Given the description of an element on the screen output the (x, y) to click on. 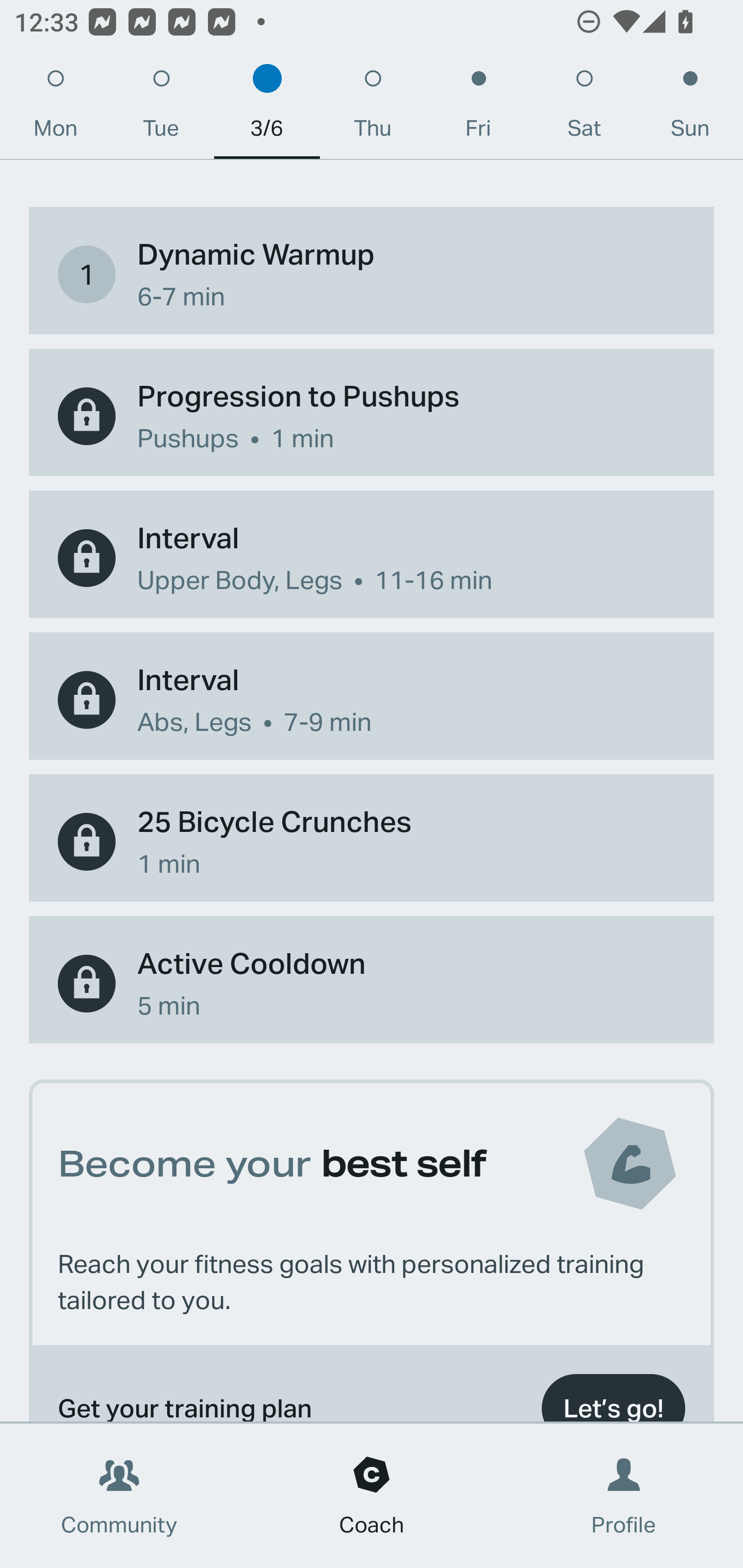
Mon (55, 108)
Tue (160, 108)
3/6 (266, 108)
Thu (372, 108)
Fri (478, 108)
Sat (584, 108)
Sun (690, 108)
1 Dynamic Warmup 6-7 min (371, 274)
Progression to Pushups Pushups  •  1 min (371, 416)
Interval Upper Body, Legs  •  11-16 min (371, 558)
Interval Abs, Legs  •  7-9 min (371, 699)
25 Bicycle Crunches 1 min (371, 841)
Active Cooldown 5 min (371, 983)
Let’s go! (613, 1393)
Community (119, 1495)
Profile (624, 1495)
